Given the description of an element on the screen output the (x, y) to click on. 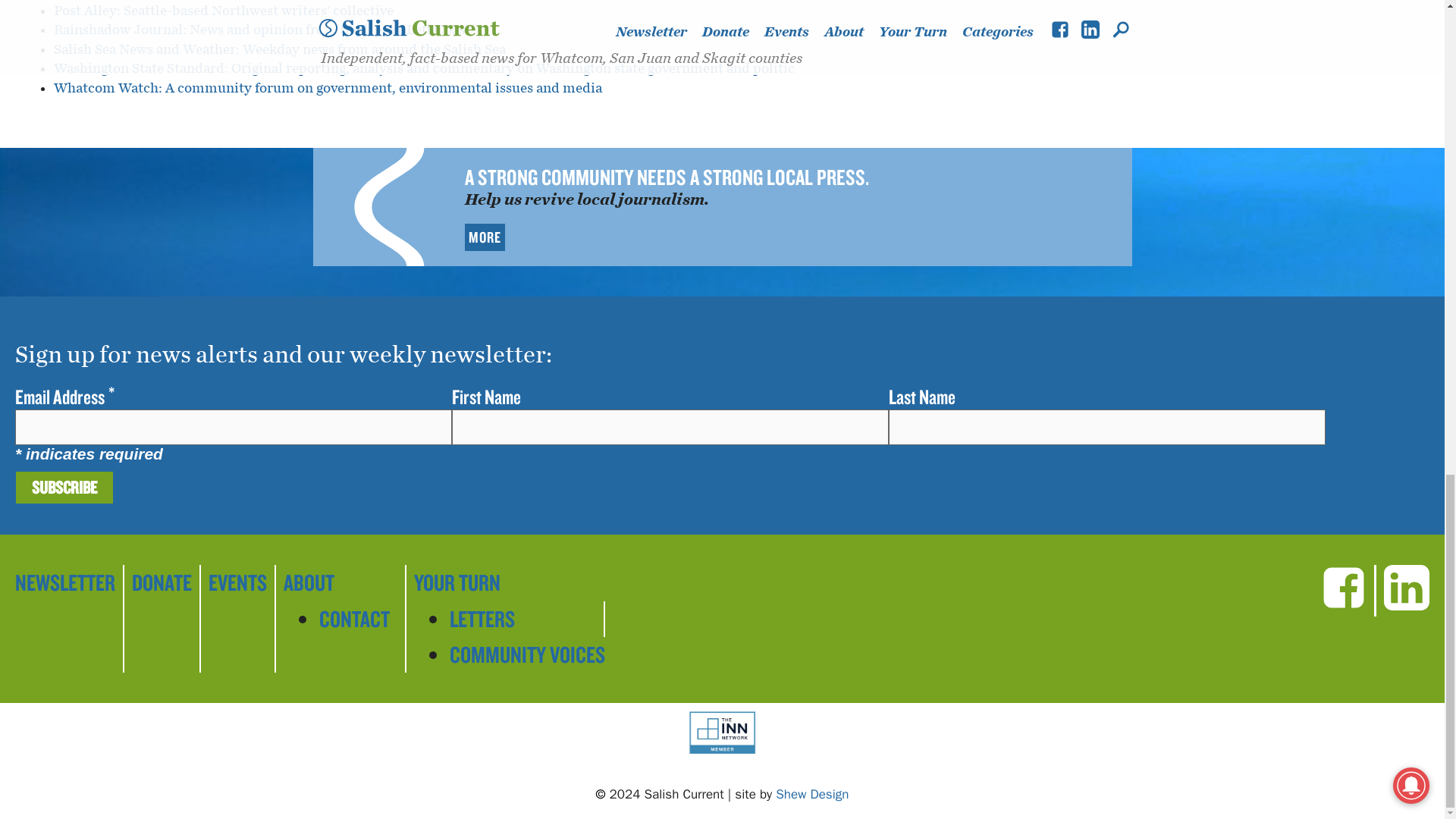
Subscribe (64, 487)
